Given the description of an element on the screen output the (x, y) to click on. 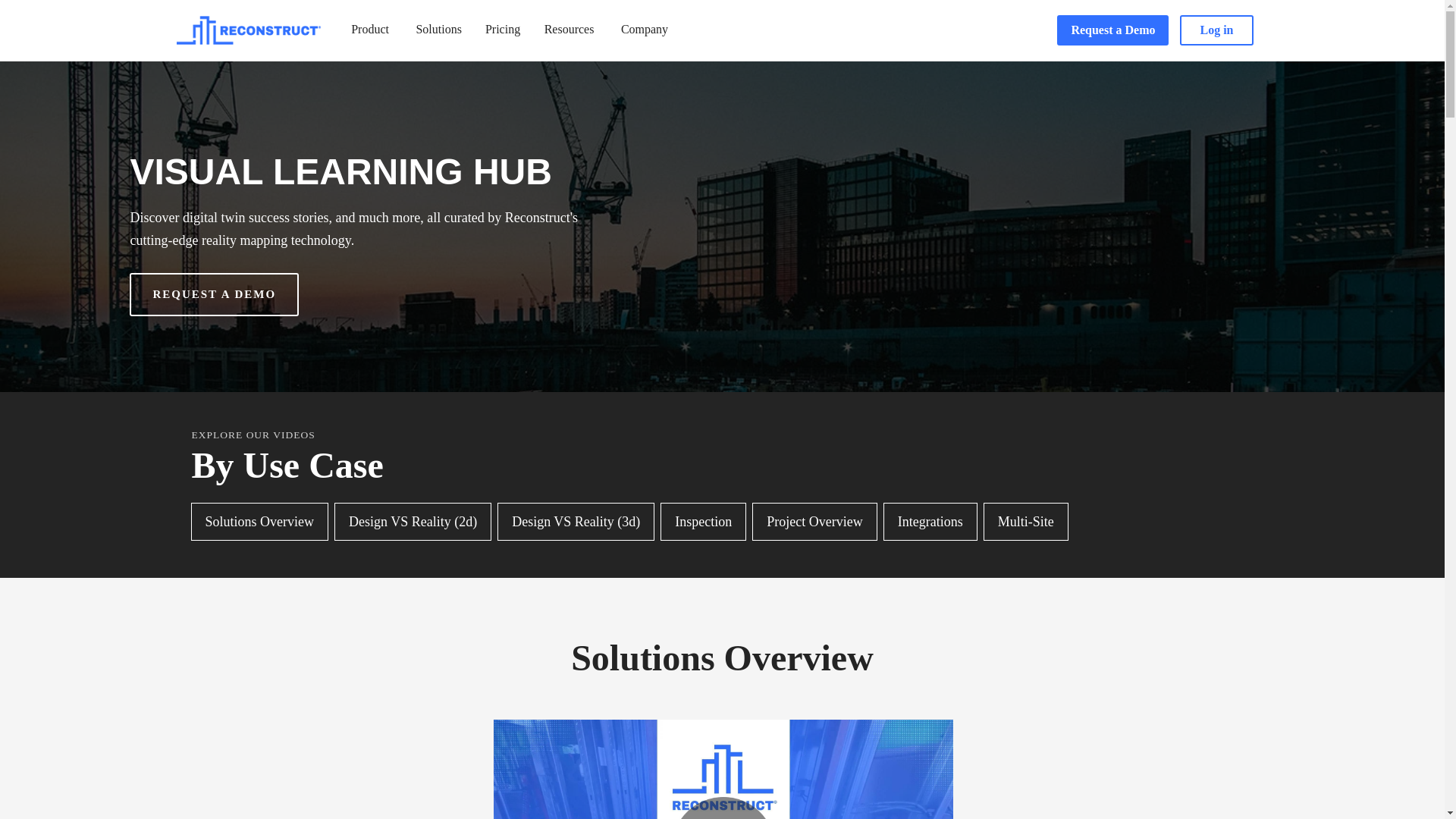
Pricing (501, 30)
